Given the description of an element on the screen output the (x, y) to click on. 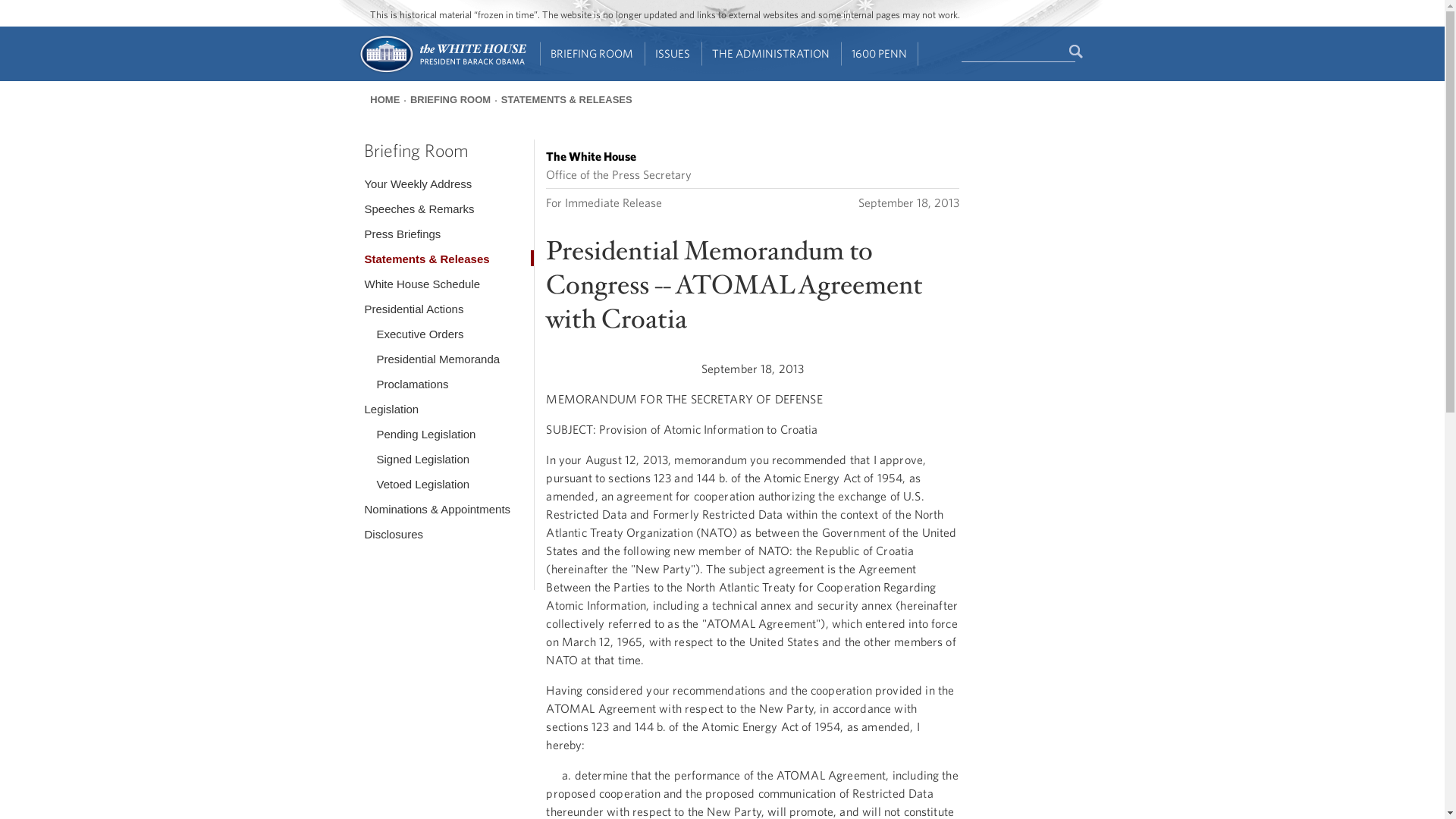
Home (441, 70)
ISSUES (673, 53)
BRIEFING ROOM (592, 53)
Enter the terms you wish to search for. (1017, 52)
Search (1076, 51)
